Given the description of an element on the screen output the (x, y) to click on. 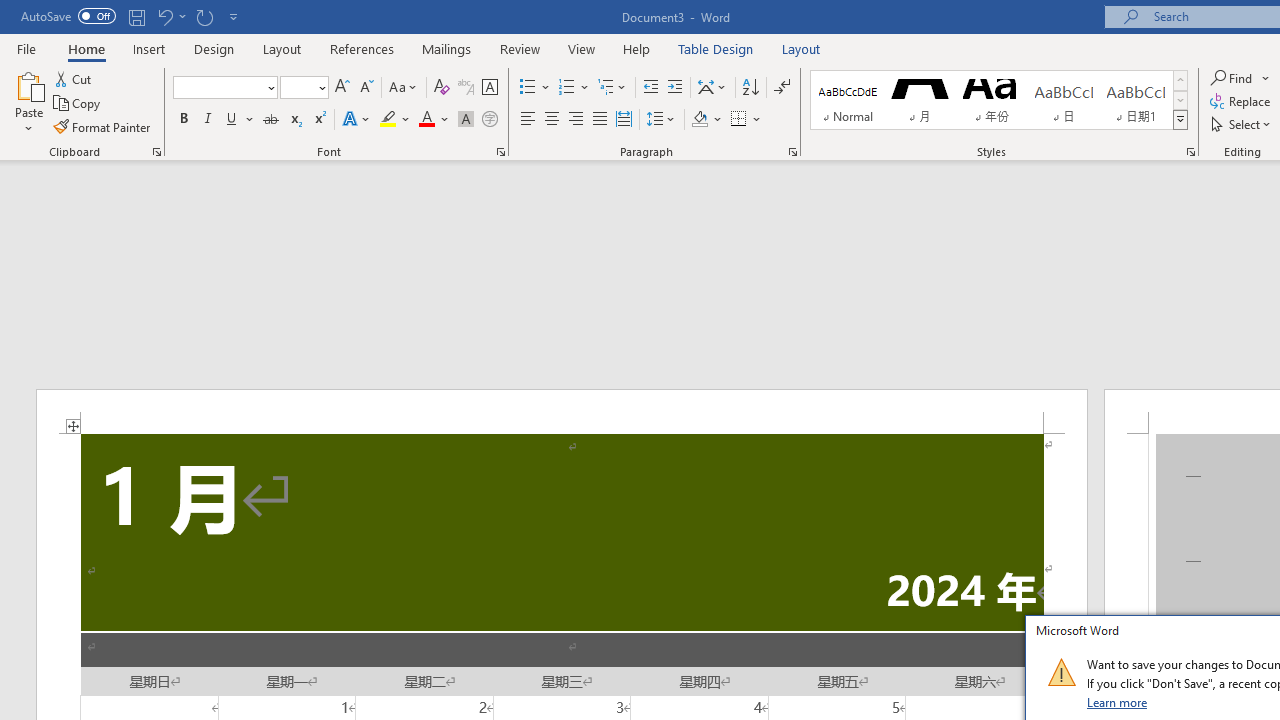
Table Design (715, 48)
Mailings (447, 48)
Select (1242, 124)
Home (86, 48)
Distributed (623, 119)
Change Case (404, 87)
Paragraph... (792, 151)
Font (224, 87)
Superscript (319, 119)
Text Highlight Color (395, 119)
Font Color (434, 119)
Design (214, 48)
Subscript (294, 119)
Undo Apply Quick Style (164, 15)
Insert (149, 48)
